Given the description of an element on the screen output the (x, y) to click on. 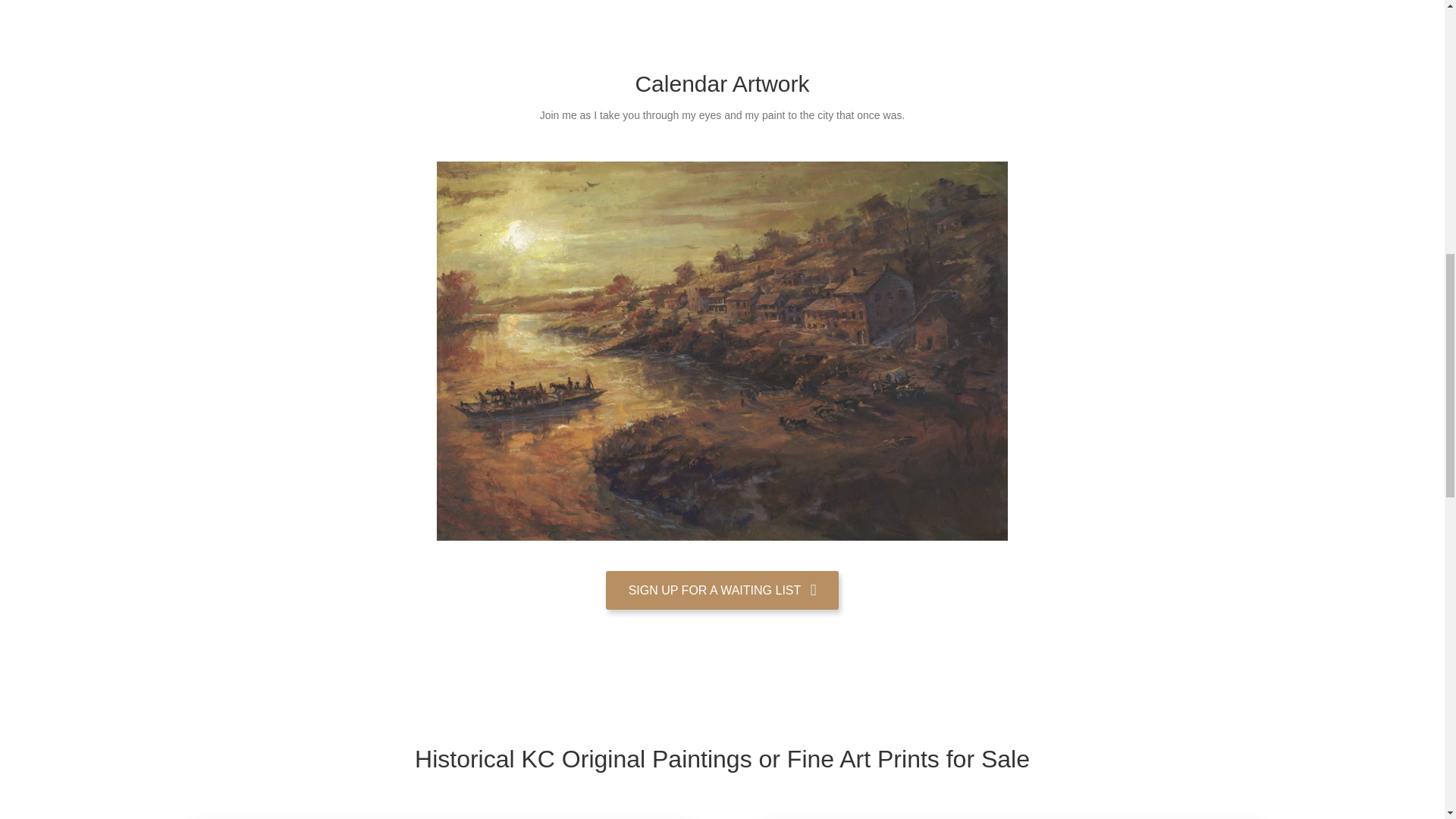
SIGN UP FOR A WAITING LIST (722, 589)
